Given the description of an element on the screen output the (x, y) to click on. 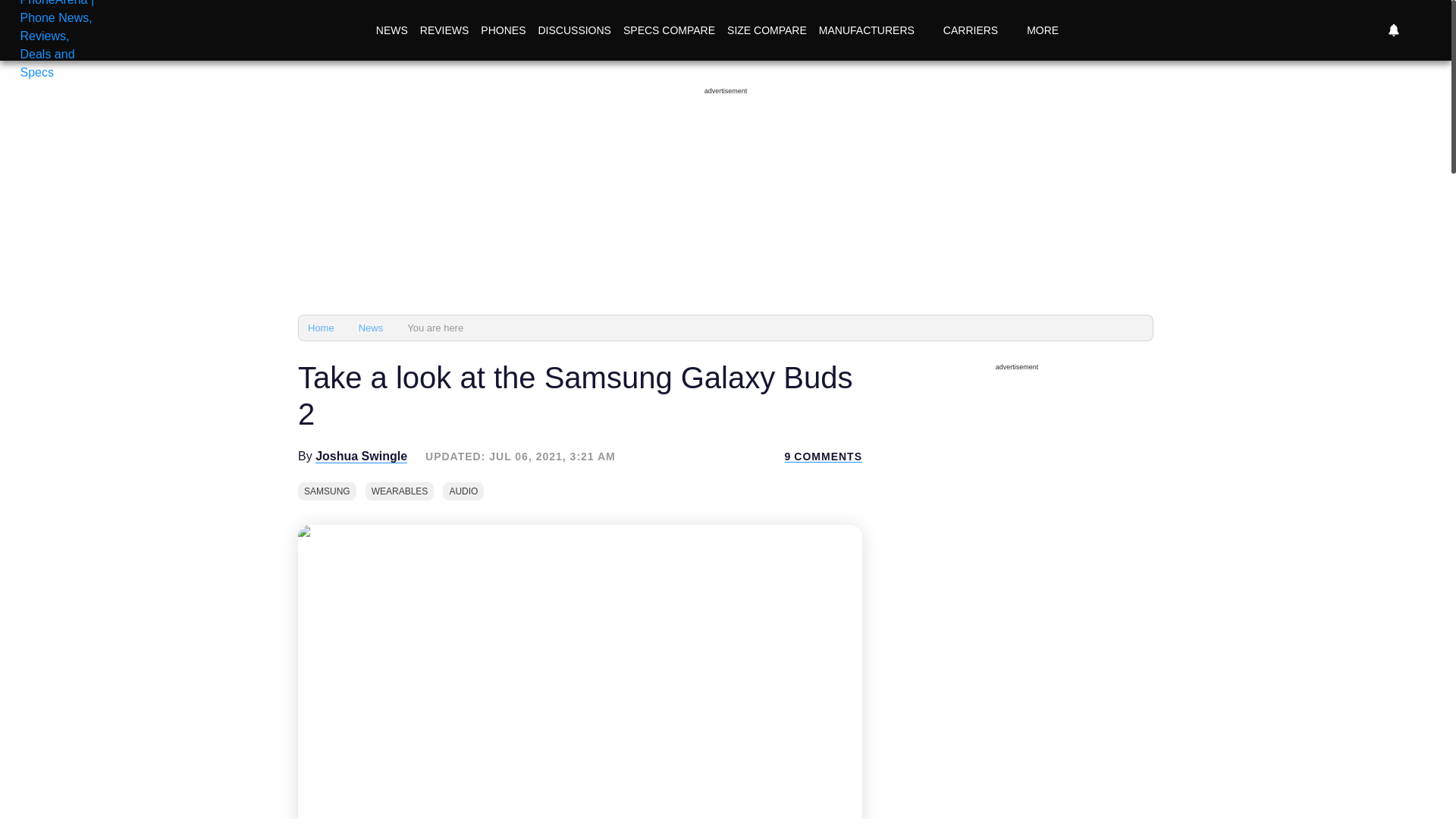
CARRIERS (978, 30)
PHONES (502, 30)
MORE (1050, 30)
DISCUSSIONS (573, 30)
SIZE COMPARE (766, 30)
NEWS (391, 30)
MANUFACTURERS (874, 30)
REVIEWS (444, 30)
SPECS COMPARE (668, 30)
